Given the description of an element on the screen output the (x, y) to click on. 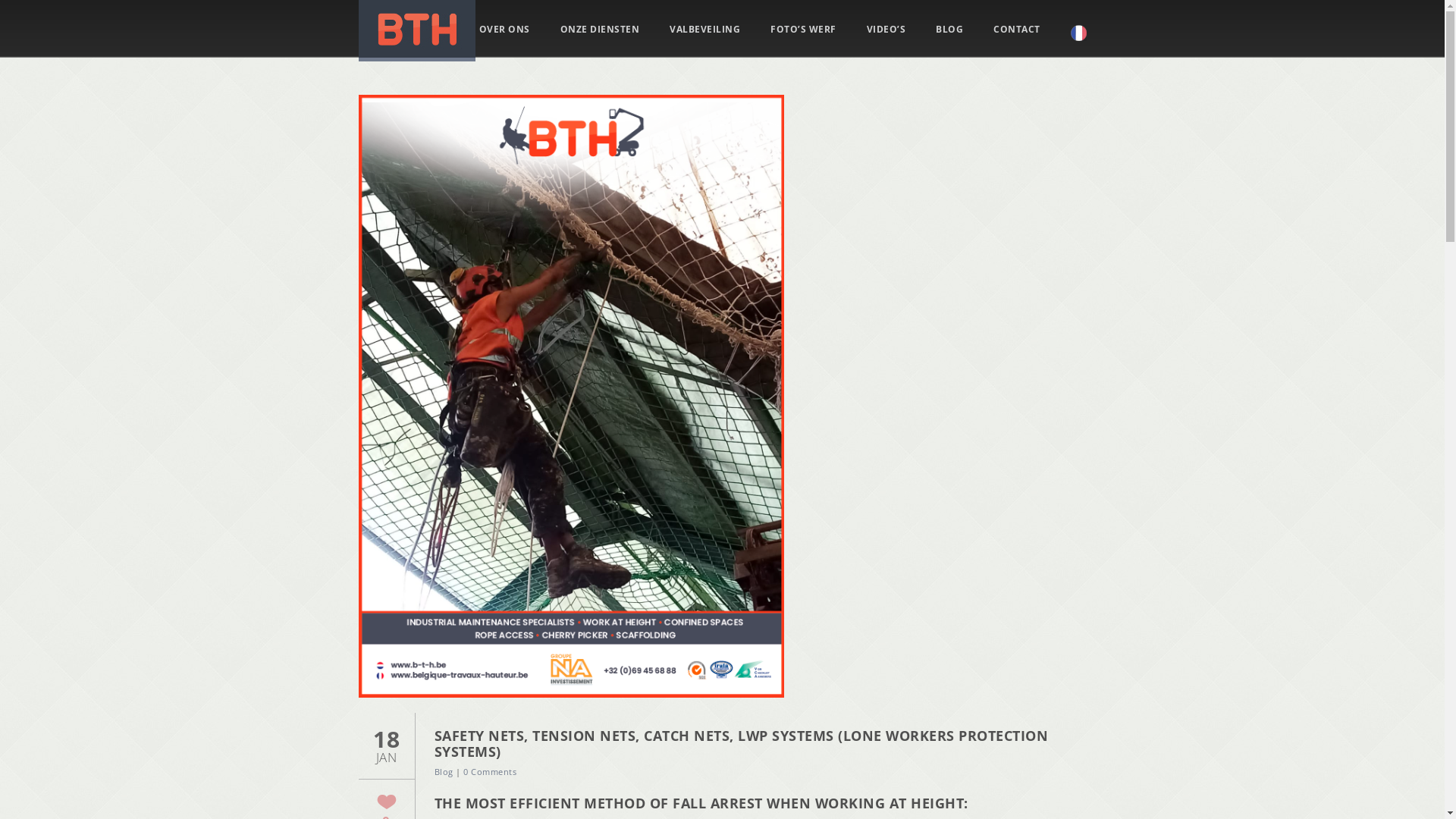
Blog Element type: text (442, 771)
OVER ONS Element type: text (504, 29)
CONTACT Element type: text (1016, 29)
0 Comments Element type: text (489, 771)
ONZE DIENSTEN Element type: text (599, 29)
VALBEVEILING Element type: text (704, 29)
BLOG Element type: text (949, 29)
